Given the description of an element on the screen output the (x, y) to click on. 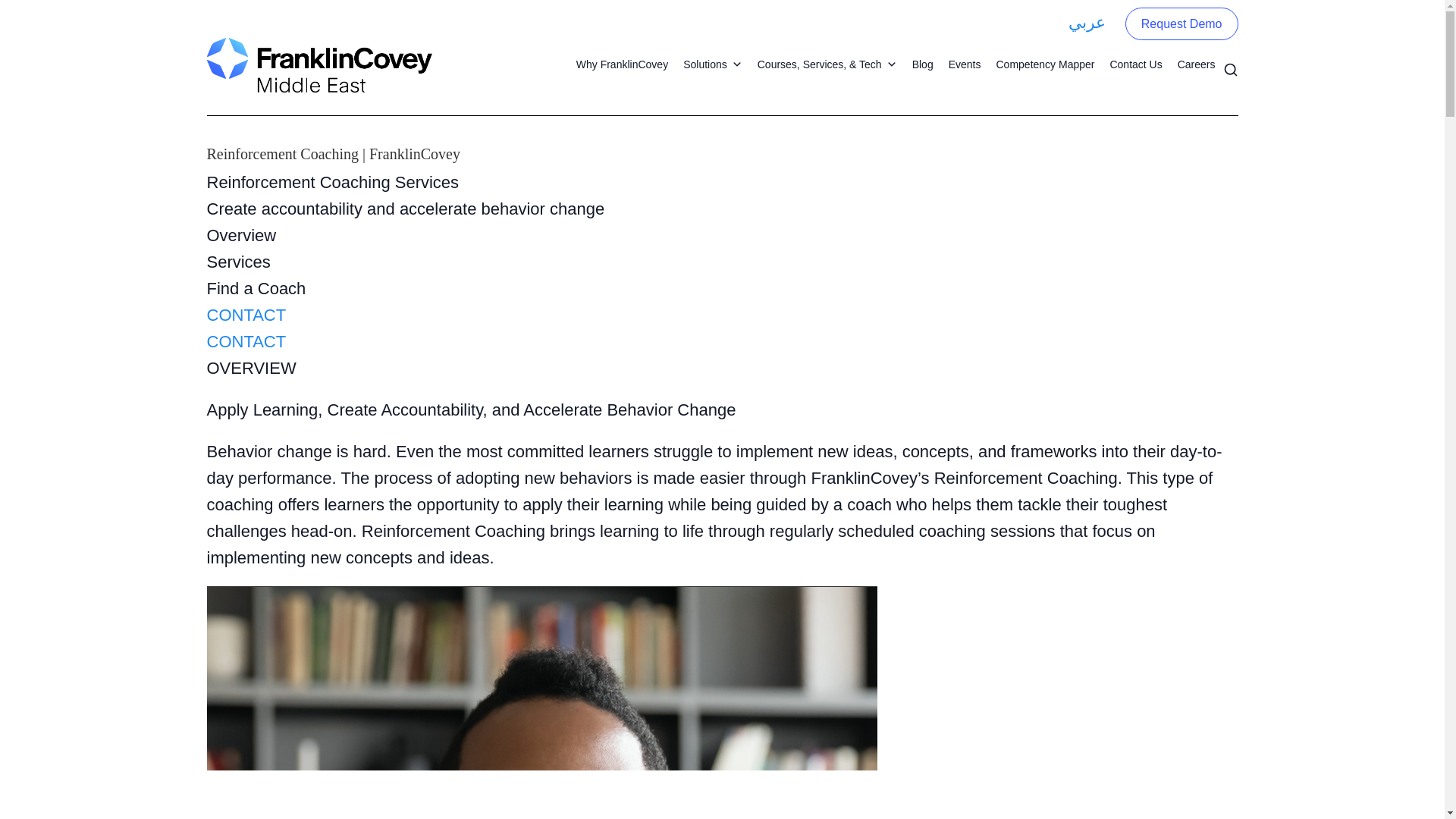
CONTACT (245, 314)
CONTACT (245, 341)
Solutions (712, 64)
Why FranklinCovey (622, 64)
